Given the description of an element on the screen output the (x, y) to click on. 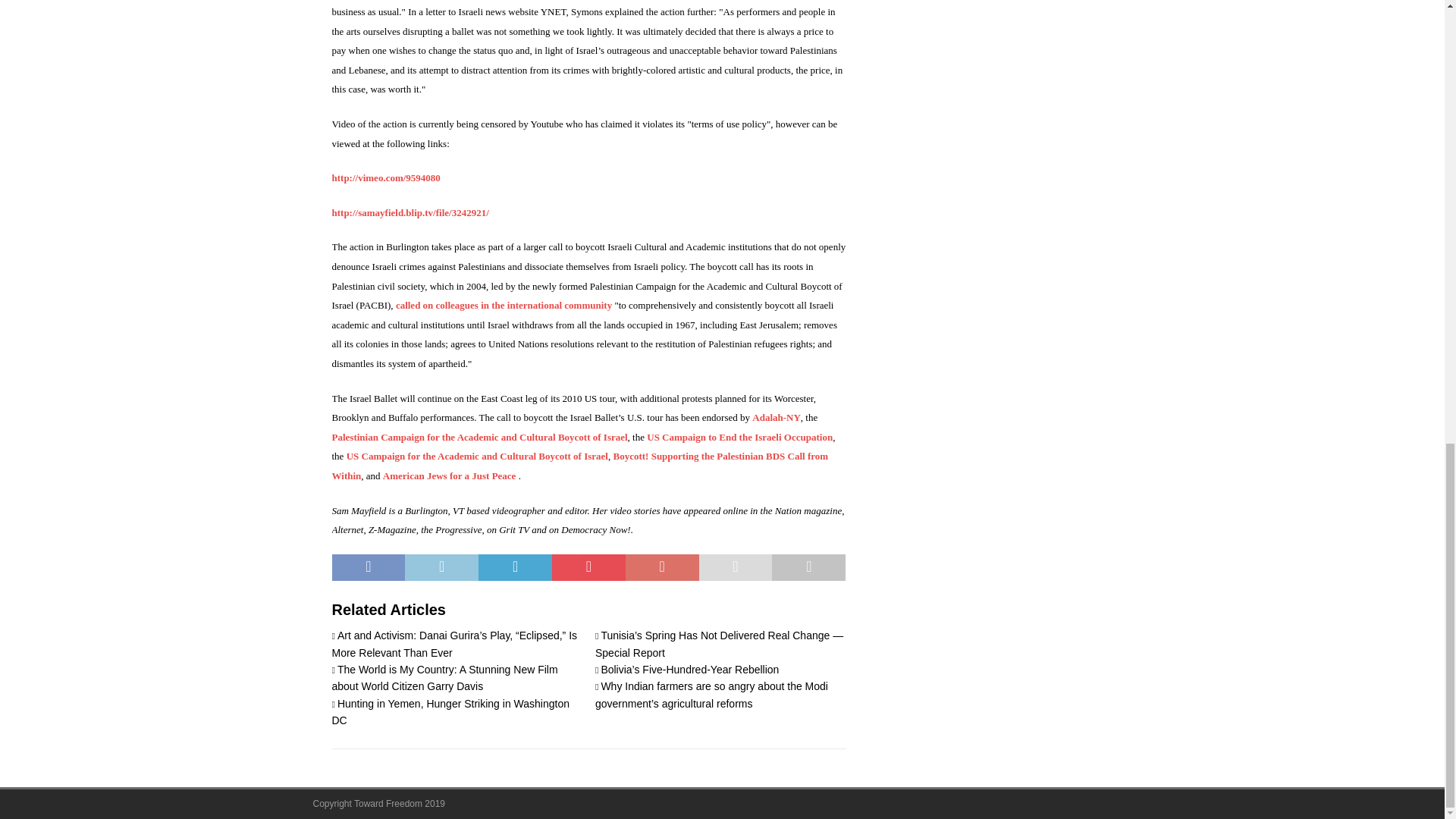
US Campaign for the Academic and Cultural Boycott of Israel (477, 454)
Adalah-NY (776, 416)
Boycott! Supporting the Palestinian BDS Call from Within (579, 464)
American Jews for a Just Peace (449, 474)
Hunting in Yemen, Hunger Striking in Washington DC (450, 711)
US Campaign to End the Israeli Occupation (739, 436)
called on colleagues in the international community (503, 304)
